Given the description of an element on the screen output the (x, y) to click on. 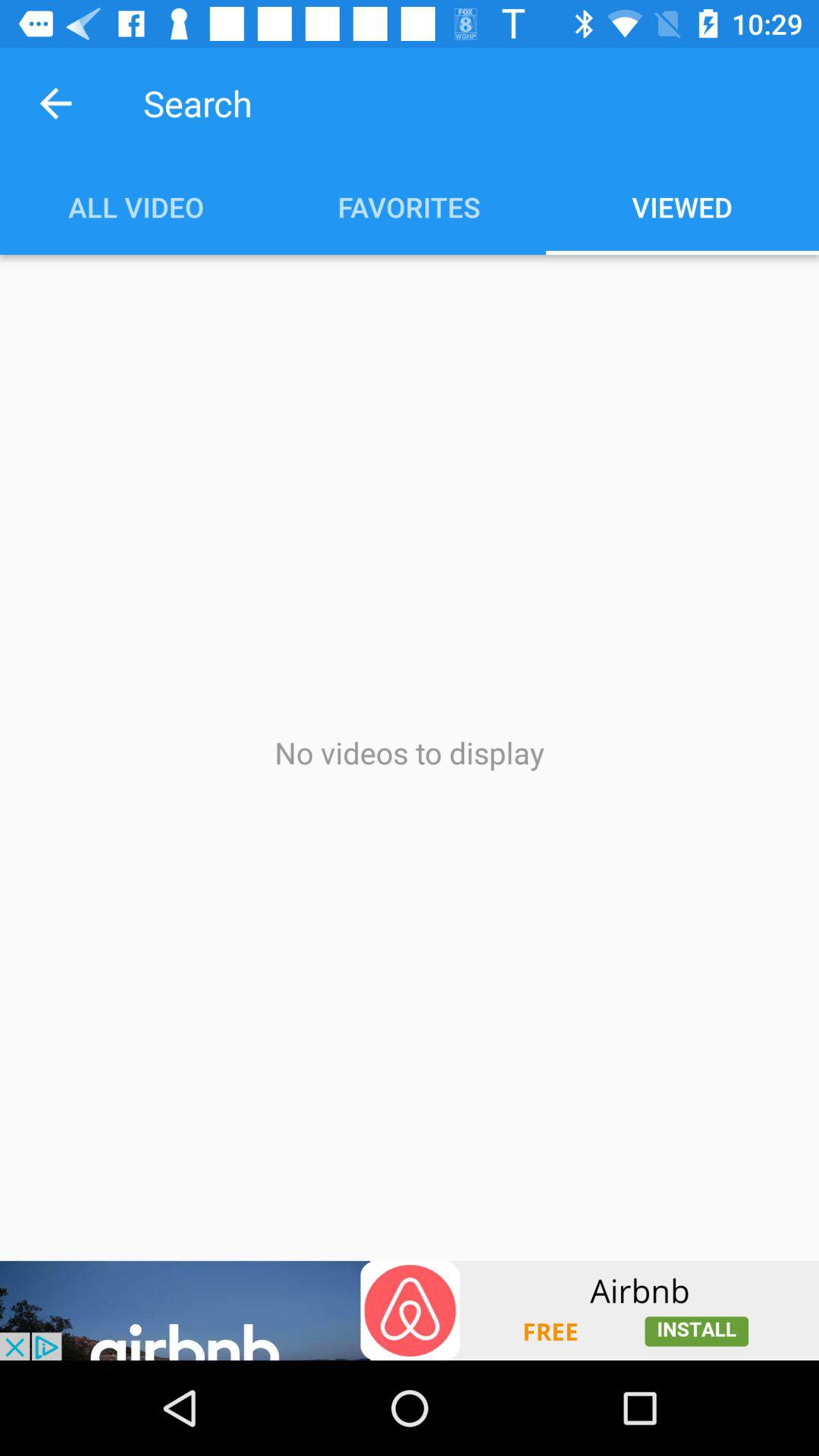
seaech box (429, 103)
